Given the description of an element on the screen output the (x, y) to click on. 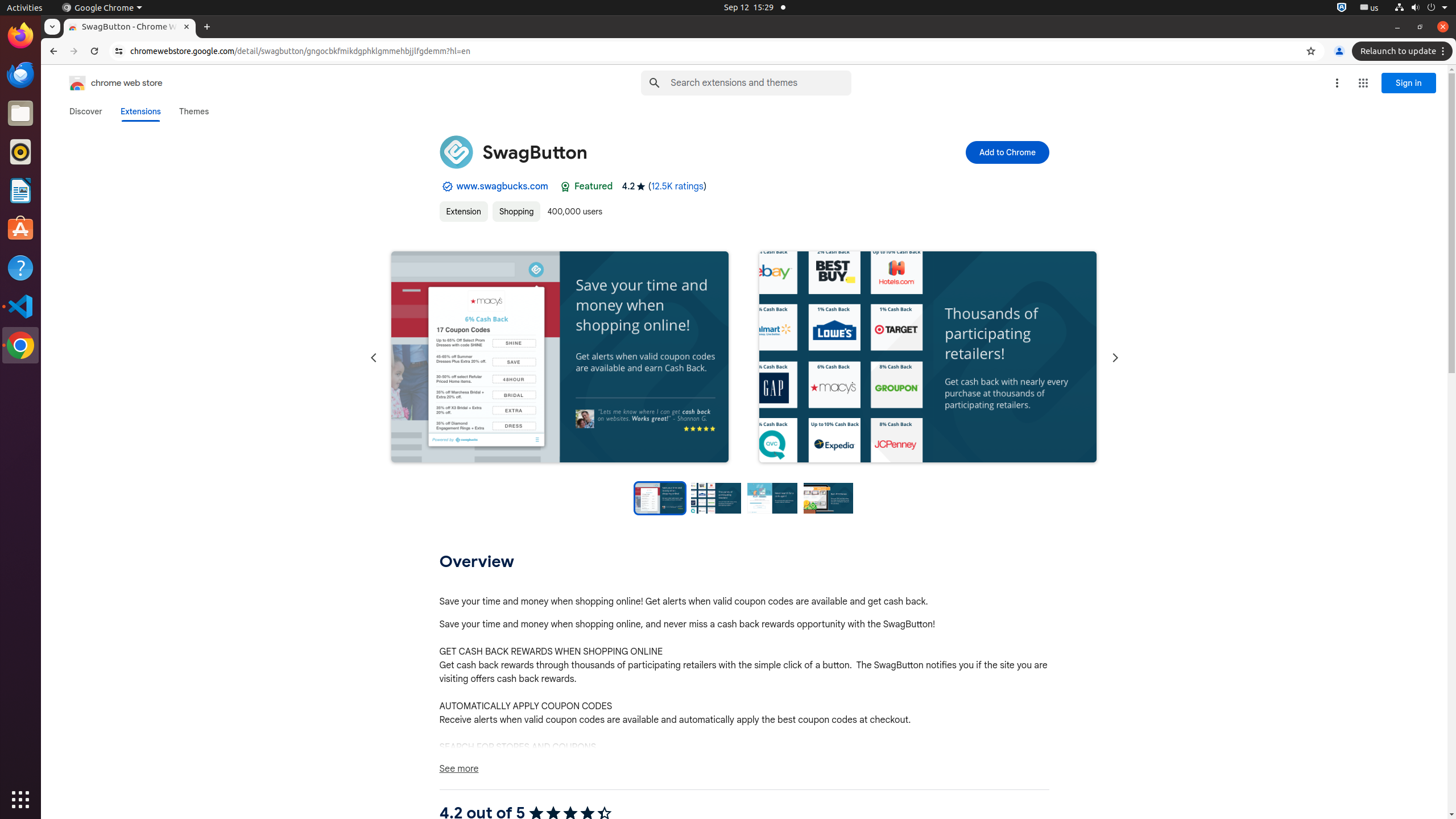
12.5K ratings Element type: link (677, 186)
Bookmark this tab Element type: push-button (1310, 51)
Sign in Element type: link (1408, 82)
Help Element type: push-button (20, 267)
Discover Element type: page-tab (85, 111)
